Given the description of an element on the screen output the (x, y) to click on. 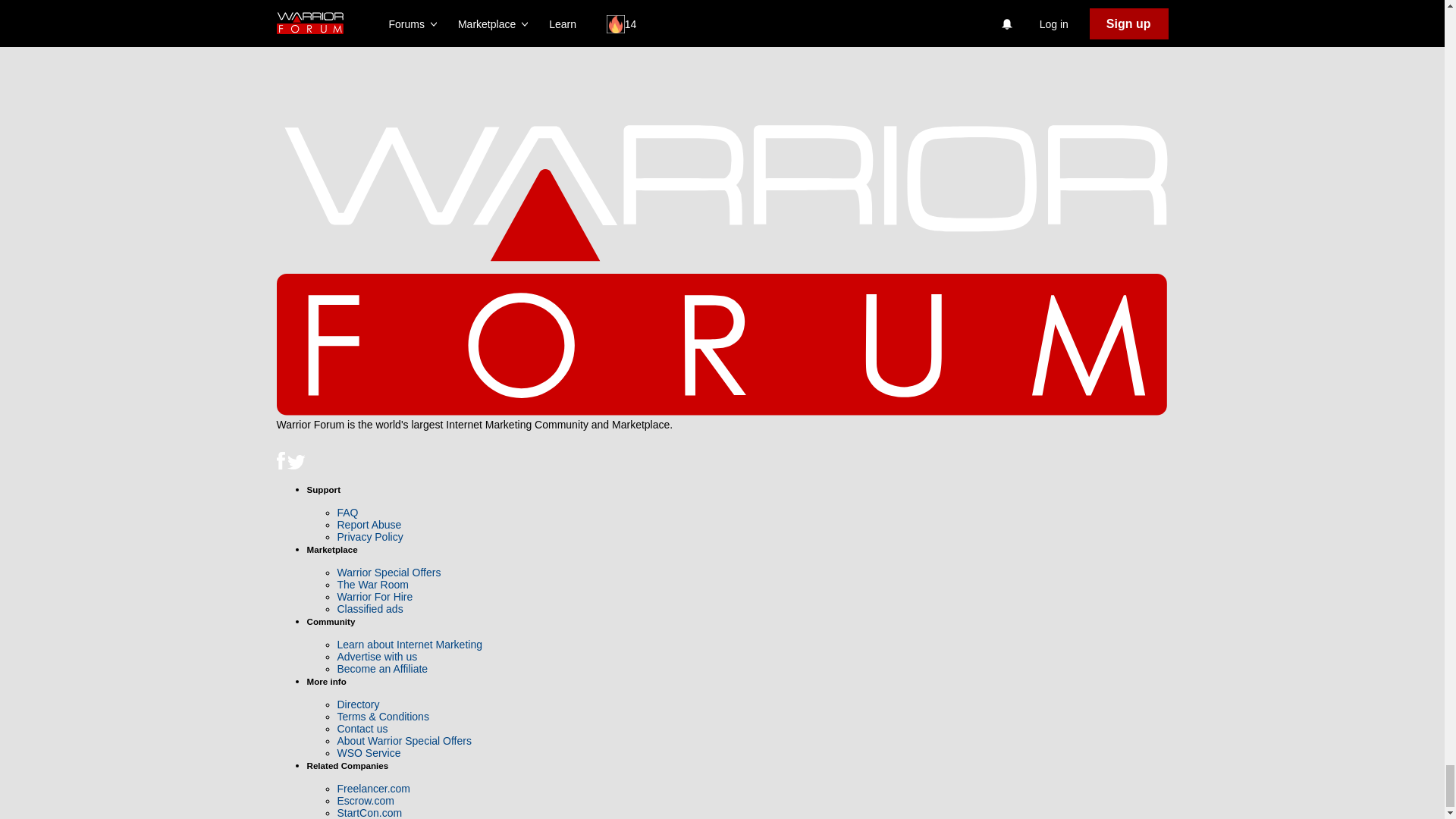
Bird (295, 462)
Facebook (279, 460)
